Given the description of an element on the screen output the (x, y) to click on. 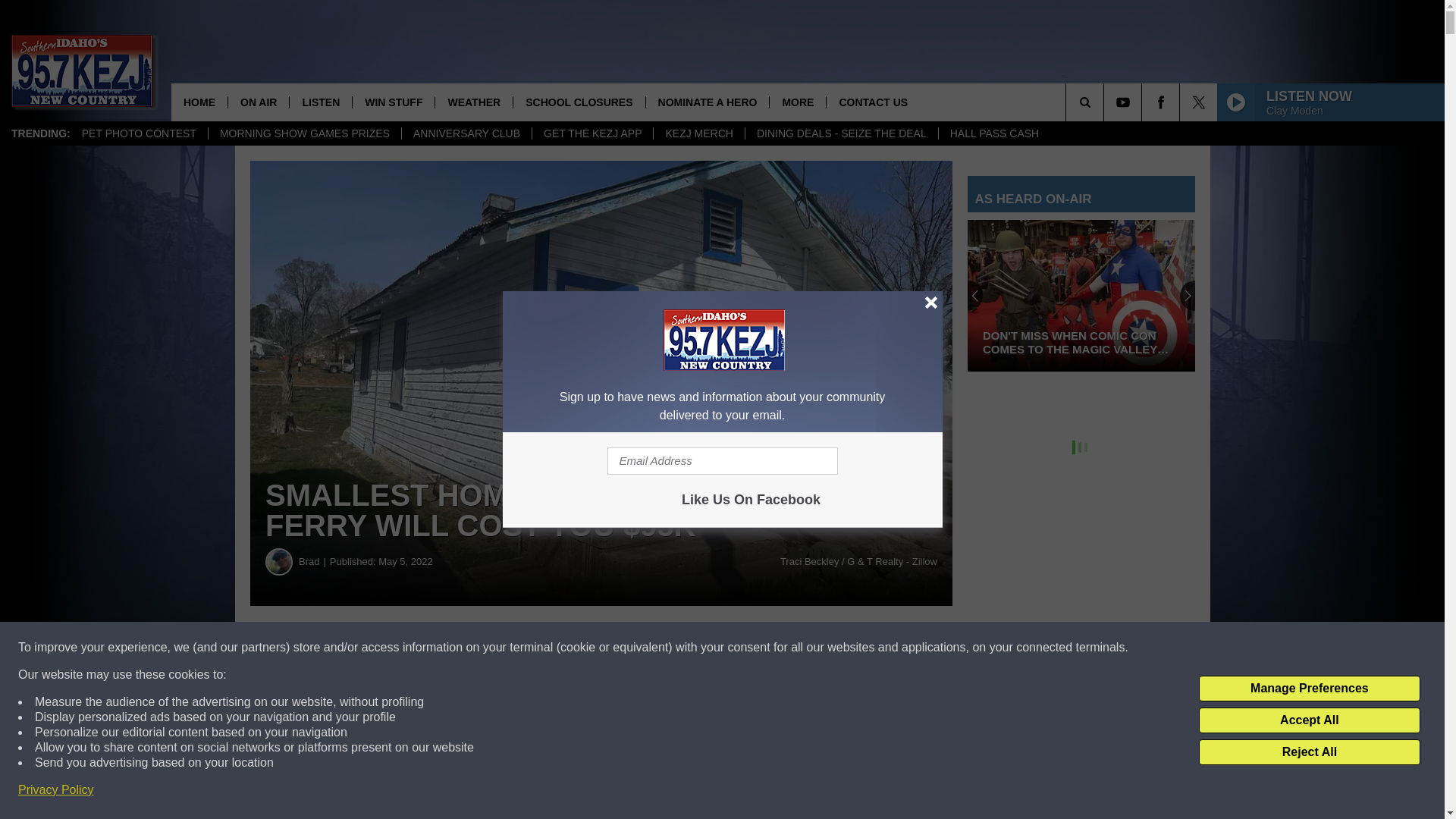
HOME (199, 102)
KEZJ MERCH (698, 133)
SEARCH (1106, 102)
Share on Twitter (741, 647)
Privacy Policy (55, 789)
Share on Facebook (460, 647)
ANNIVERSARY CLUB (466, 133)
ON AIR (257, 102)
DINING DEALS - SEIZE THE DEAL (840, 133)
WIN STUFF (392, 102)
SEARCH (1106, 102)
Reject All (1309, 751)
Accept All (1309, 720)
LISTEN (320, 102)
HALL PASS CASH (994, 133)
